Given the description of an element on the screen output the (x, y) to click on. 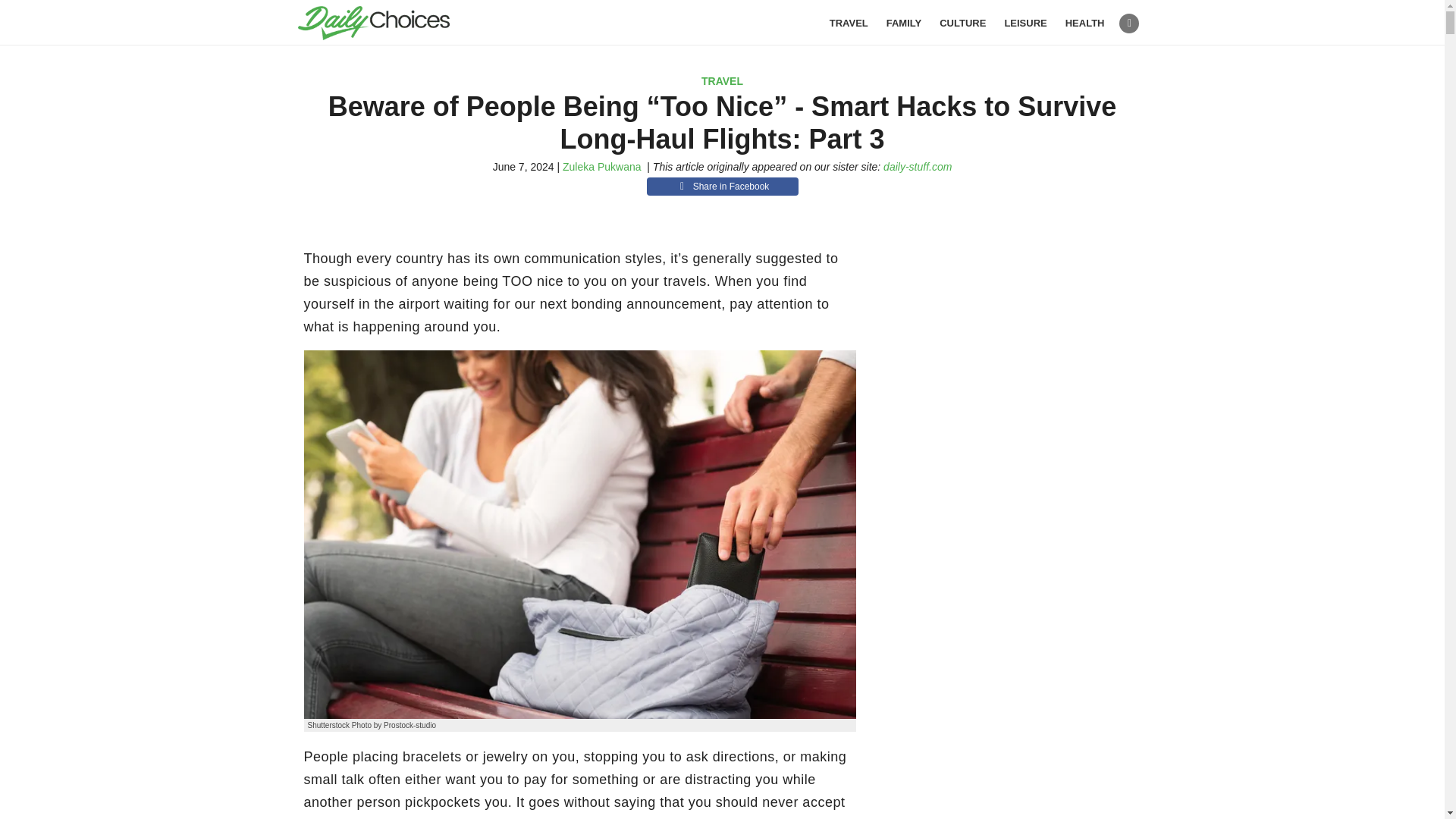
LEISURE (1025, 23)
Daily Choices (391, 22)
CULTURE (962, 23)
HEALTH (1085, 23)
daily-stuff.com (917, 166)
Facebook (1128, 23)
Share in Facebook (721, 186)
FAMILY (903, 23)
Zuleka Pukwana (602, 166)
TRAVEL (848, 23)
TRAVEL (721, 80)
